Given the description of an element on the screen output the (x, y) to click on. 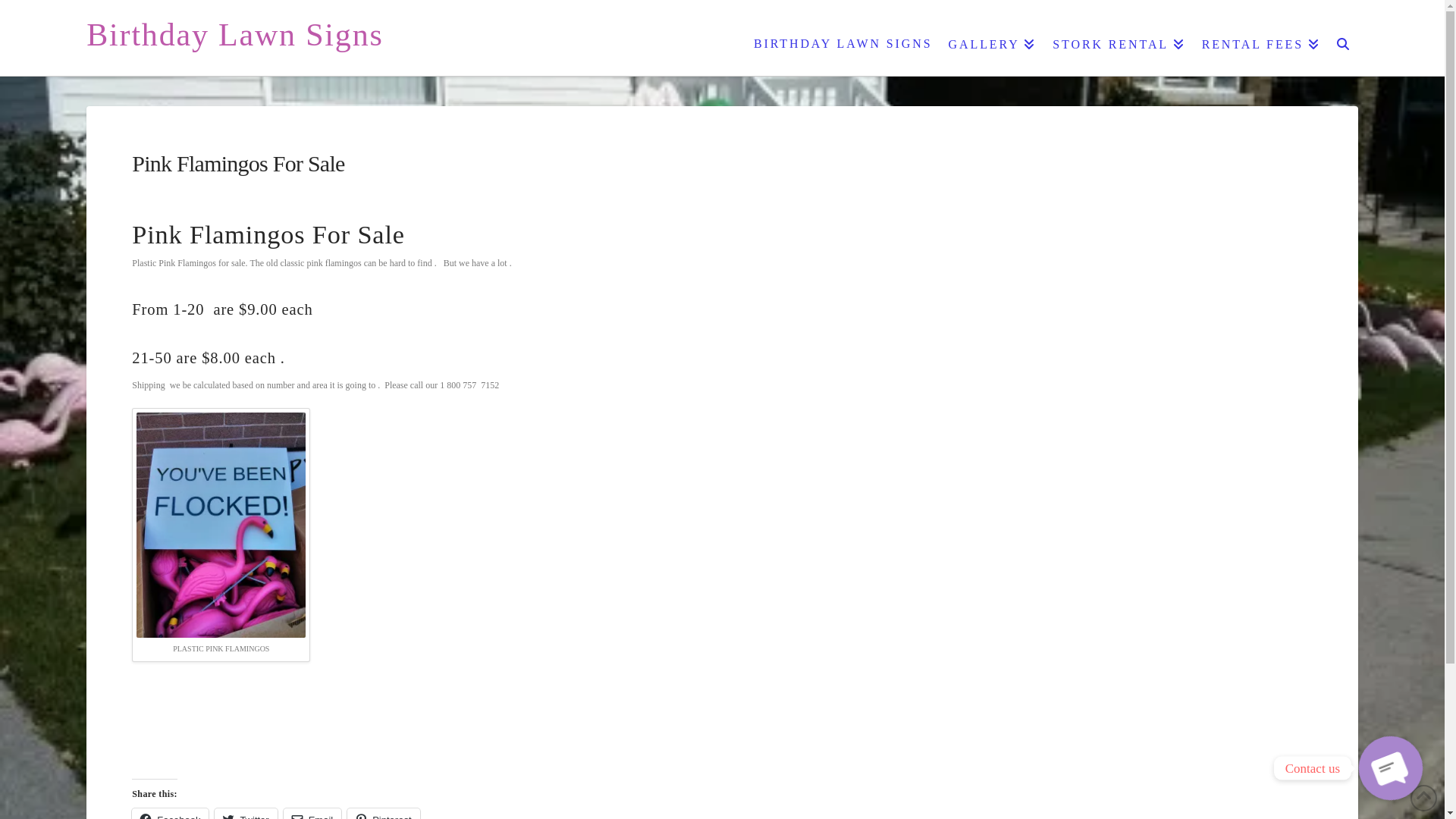
  Element type: text (721, 759)
Back to Top Element type: hover (1423, 797)
BIRTHDAY LAWN SIGNS Element type: text (841, 37)
STORK RENTAL Element type: text (1117, 37)
Birthday Lawn Signs Element type: text (234, 34)
RENTAL FEES Element type: text (1259, 37)
Gallery Element type: hover (721, 759)
GALLERY Element type: text (991, 37)
